Given the description of an element on the screen output the (x, y) to click on. 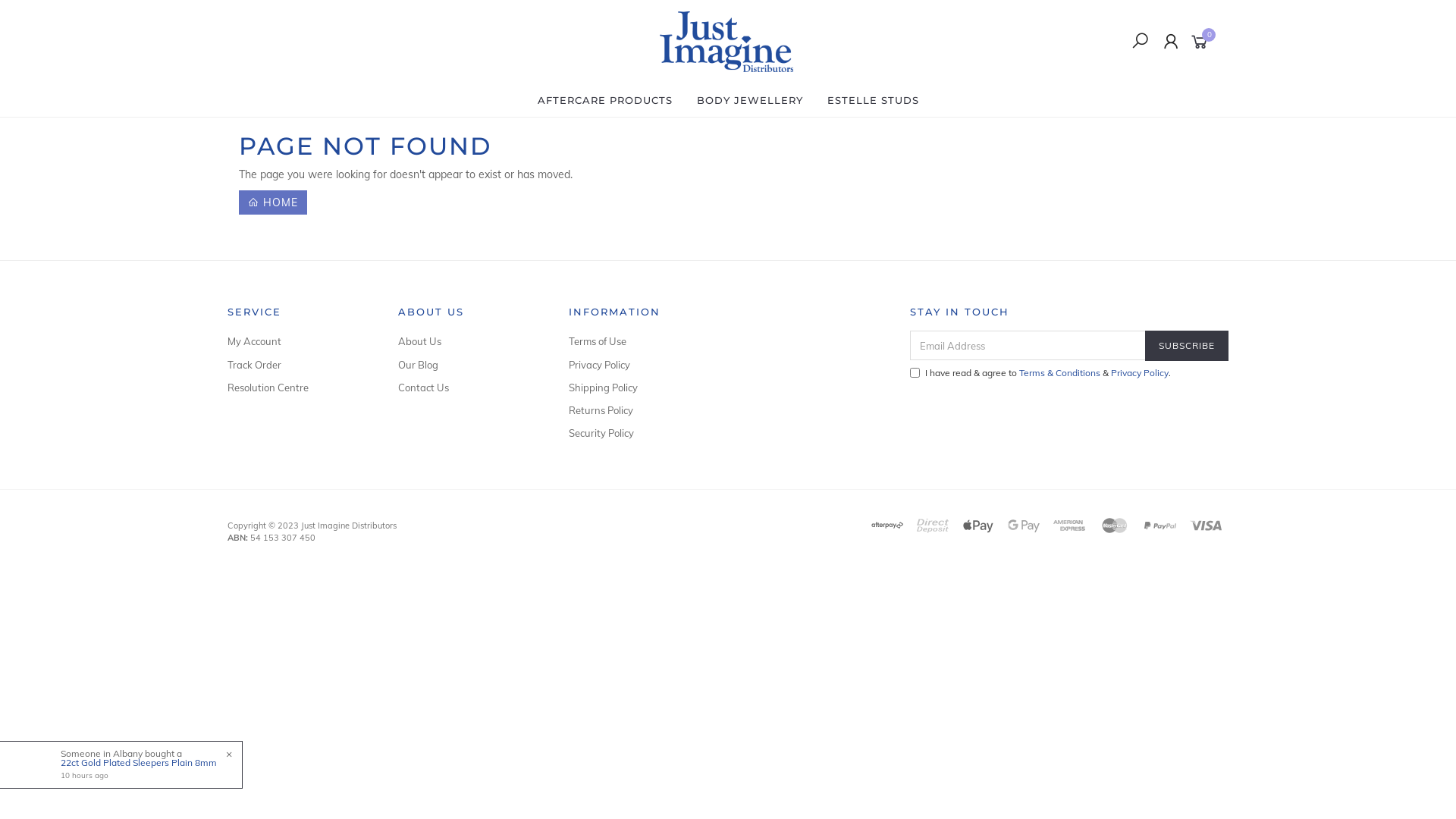
Terms & Conditions Element type: text (1059, 372)
Privacy Policy Element type: text (636, 364)
Subscribe Element type: text (1186, 345)
Security Policy Element type: text (636, 432)
BODY JEWELLERY Element type: text (748, 99)
Resolution Centre Element type: text (295, 387)
AFTERCARE PRODUCTS Element type: text (604, 99)
22ct Gold Plated Sleepers Plain 8mm Element type: text (138, 762)
HOME Element type: text (272, 202)
Just Imagine Distributors Element type: hover (726, 40)
Privacy Policy Element type: text (1139, 372)
Shipping Policy Element type: text (636, 387)
Contact Us Element type: text (466, 387)
0 Element type: text (1202, 40)
Track Order Element type: text (295, 364)
My Account Element type: text (295, 340)
Returns Policy Element type: text (636, 409)
Terms of Use Element type: text (636, 340)
Our Blog Element type: text (466, 364)
ESTELLE STUDS Element type: text (872, 99)
About Us Element type: text (466, 340)
